Given the description of an element on the screen output the (x, y) to click on. 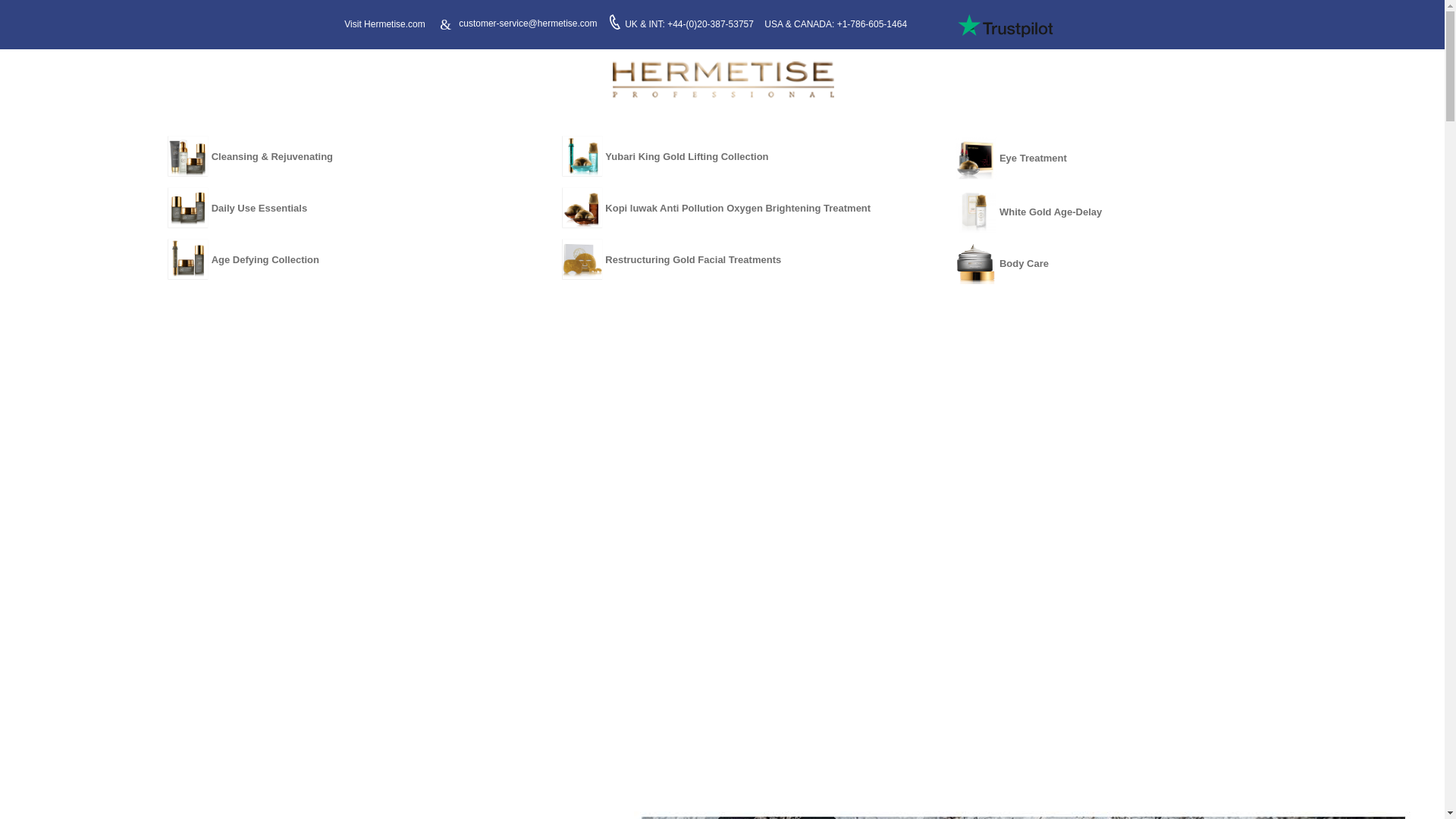
Visit Hermetise.com (384, 23)
Daily Use Essentials (332, 207)
Eye Treatment (1120, 156)
Learn the best way to use Hermetise skincare products (722, 79)
Age Defying Collection (332, 259)
Restructuring Gold Facial Treatments (726, 259)
Yubari King Gold Lifting Collection (726, 155)
Customer reviews powered by Trustpilot (1005, 25)
White Gold Age-Delay (1120, 211)
Visit Hermetise.com (384, 23)
Body Care (1120, 262)
Email us (527, 23)
Kopi luwak Anti Pollution Oxygen Brightening Treatment (726, 207)
